Given the description of an element on the screen output the (x, y) to click on. 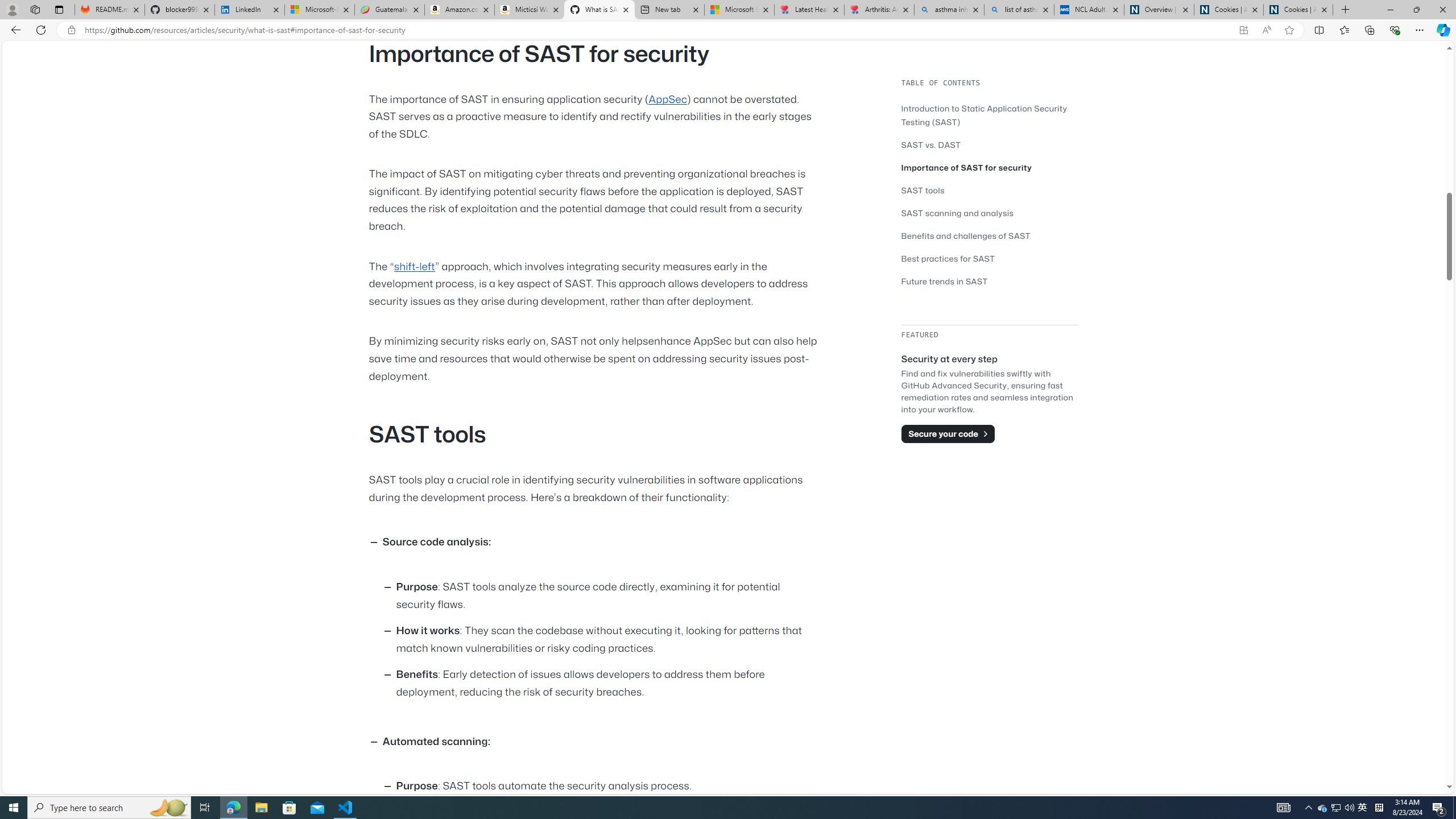
Introduction to Static Application Security Testing (SAST) (989, 115)
Purpose: SAST tools automate the security analysis process. (608, 787)
SAST tools (922, 189)
SAST scanning and analysis (989, 212)
Introduction to Static Application Security Testing (SAST) (984, 114)
